Given the description of an element on the screen output the (x, y) to click on. 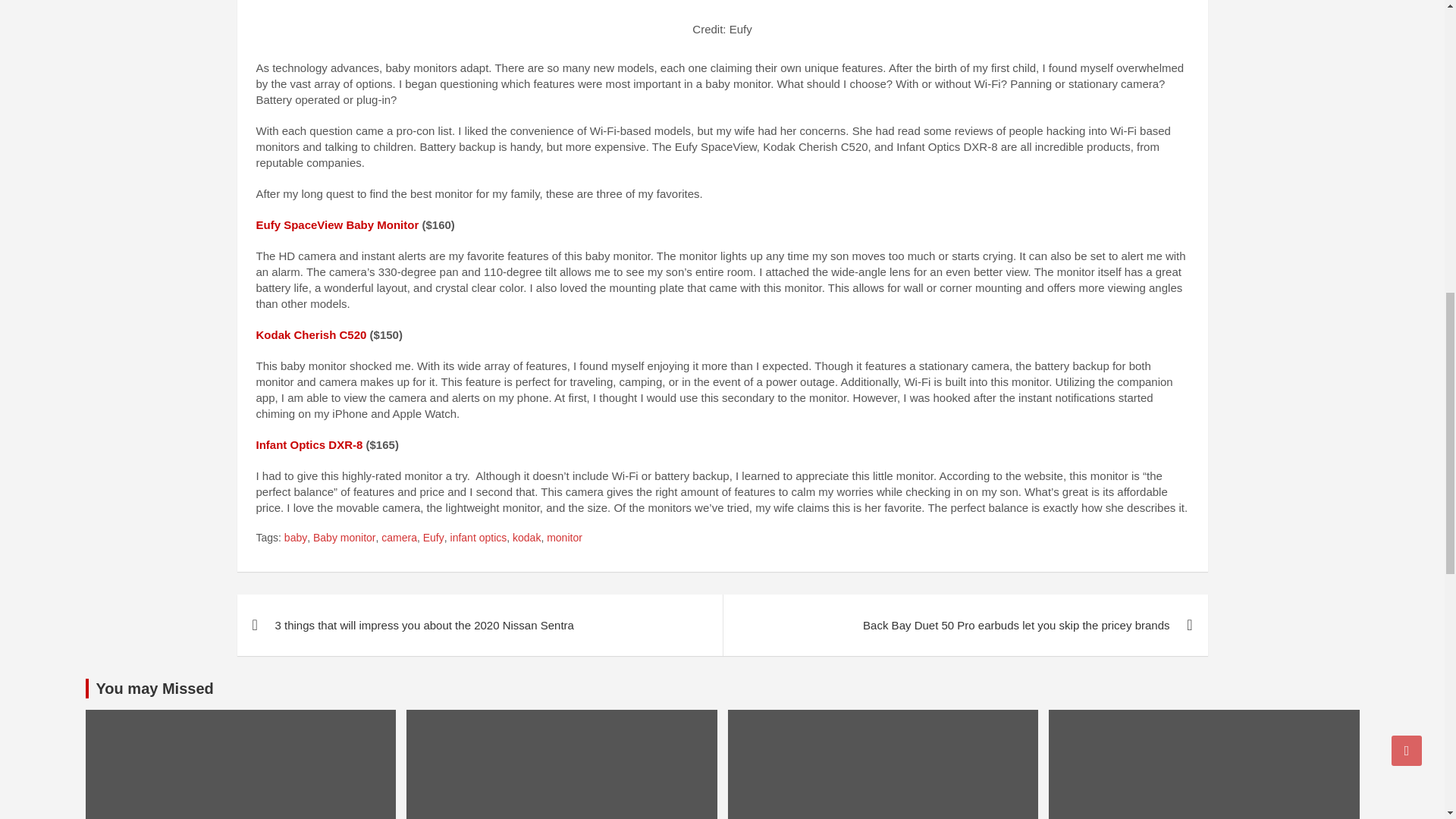
Kodak Cherish C520 (311, 334)
infant optics (477, 538)
camera (398, 538)
kodak (526, 538)
monitor (564, 538)
Back Bay Duet 50 Pro earbuds let you skip the pricey brands (964, 625)
baby (295, 538)
You may Missed (154, 688)
Eufy SpaceView Baby Monitor (337, 224)
3 things that will impress you about the 2020 Nissan Sentra (478, 625)
Baby monitor (344, 538)
Eufy (433, 538)
Infant Optics DXR-8 (309, 444)
